Given the description of an element on the screen output the (x, y) to click on. 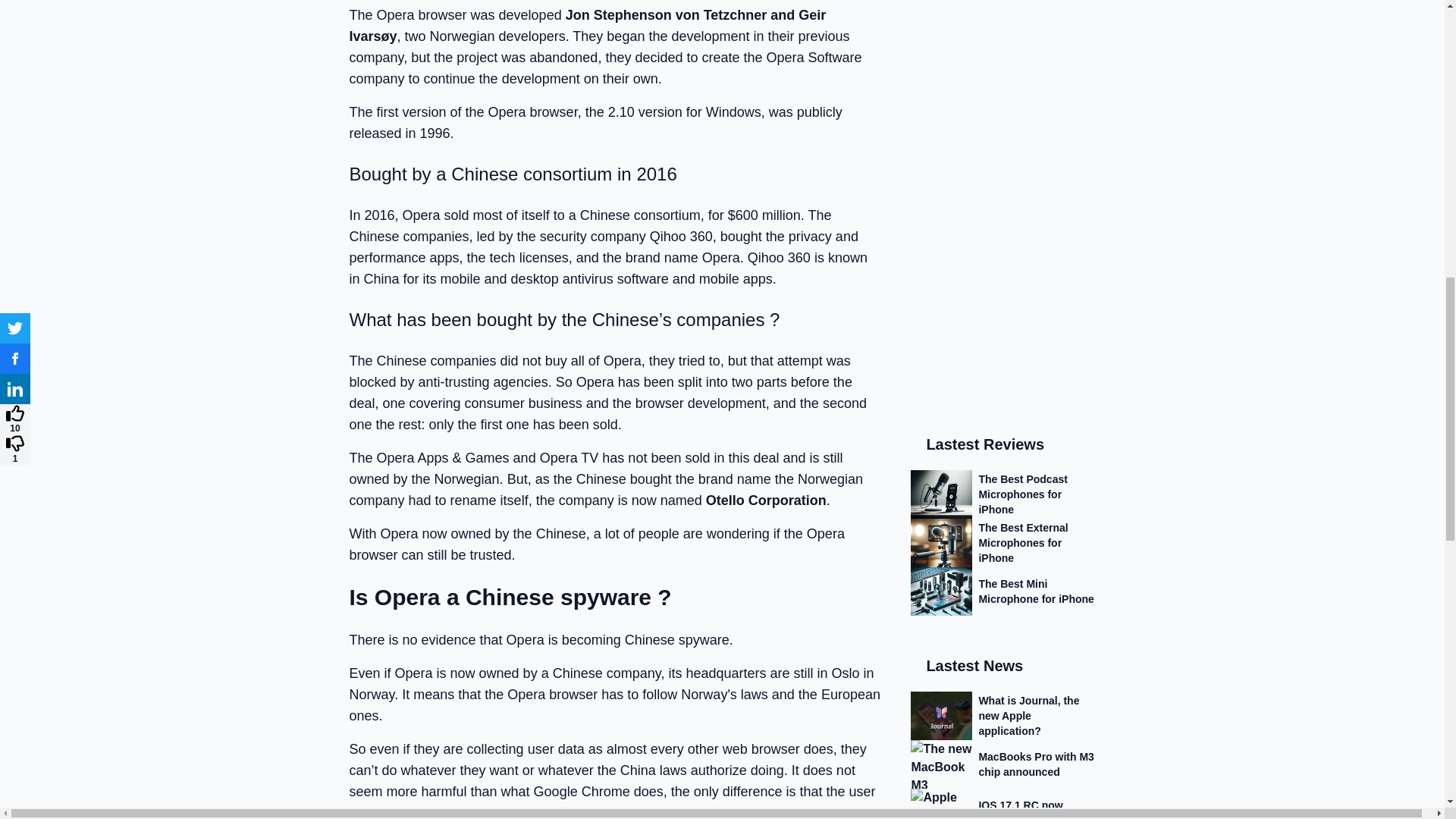
What is Journal, the new Apple application? (1002, 213)
The Best Podcast Microphones for iPhone (1002, 8)
MacBooks Pro with M3 chip announced (1002, 262)
The Impact of iPhone Cases on Microphone Quality (1002, 459)
The Best External Microphones for iPhone (1002, 40)
6 Ways to Improve a MacBook's Speed (1002, 419)
6 Ways to Improve a MacBook's Speed (1002, 419)
What is Journal, the new Apple application? (1002, 213)
The Best External Microphones for iPhone (1002, 40)
IOS 17.1 RC now available for download (1002, 310)
The Best Mini Microphone for iPhone (1002, 89)
IOS 17.1 RC now available for download (1002, 310)
MacBooks Pro with M3 chip announced (1002, 262)
The Best Mini Microphone for iPhone (1002, 89)
The Impact of iPhone Cases on Microphone Quality (1002, 459)
